Given the description of an element on the screen output the (x, y) to click on. 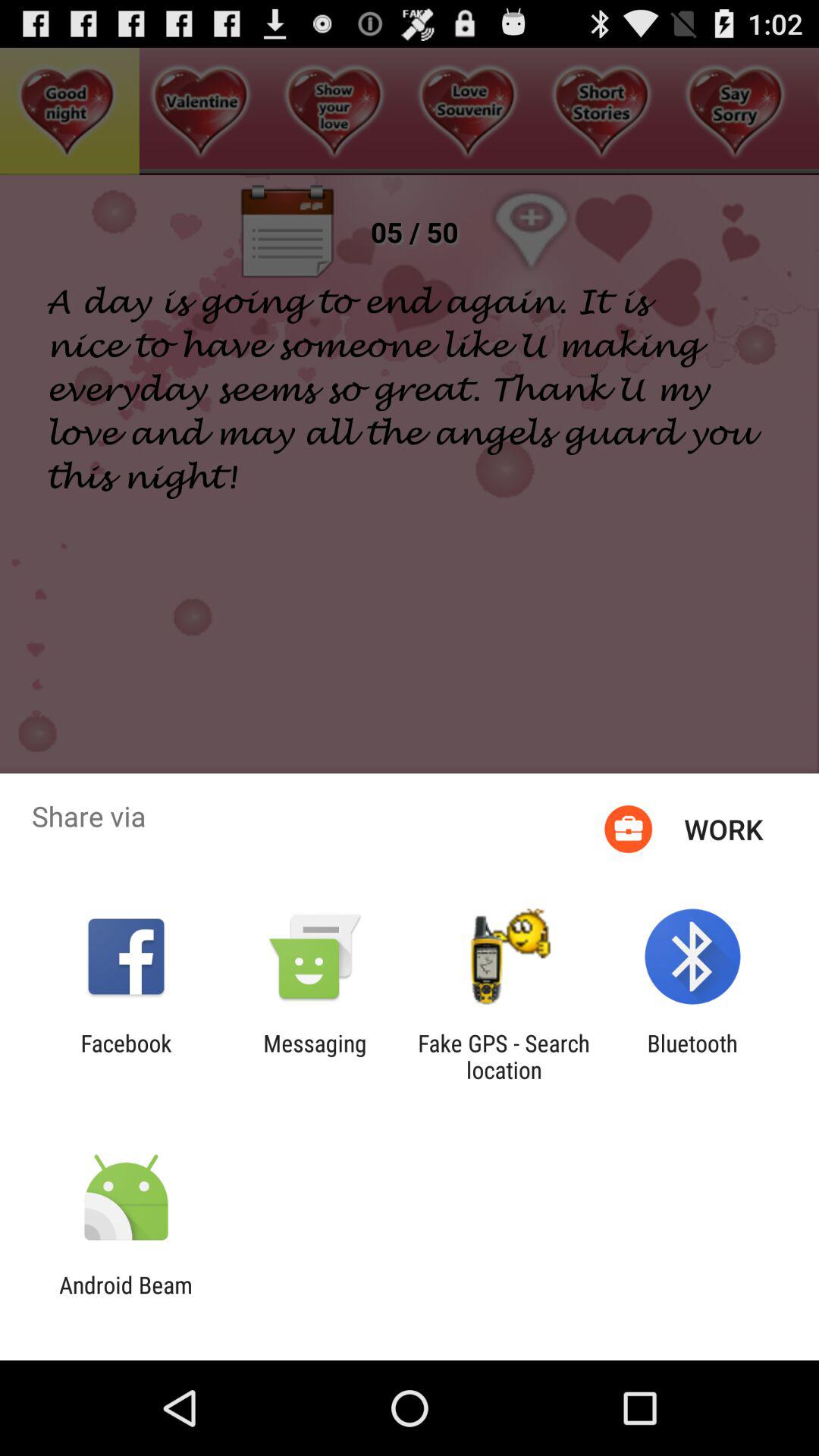
tap the android beam app (125, 1298)
